Given the description of an element on the screen output the (x, y) to click on. 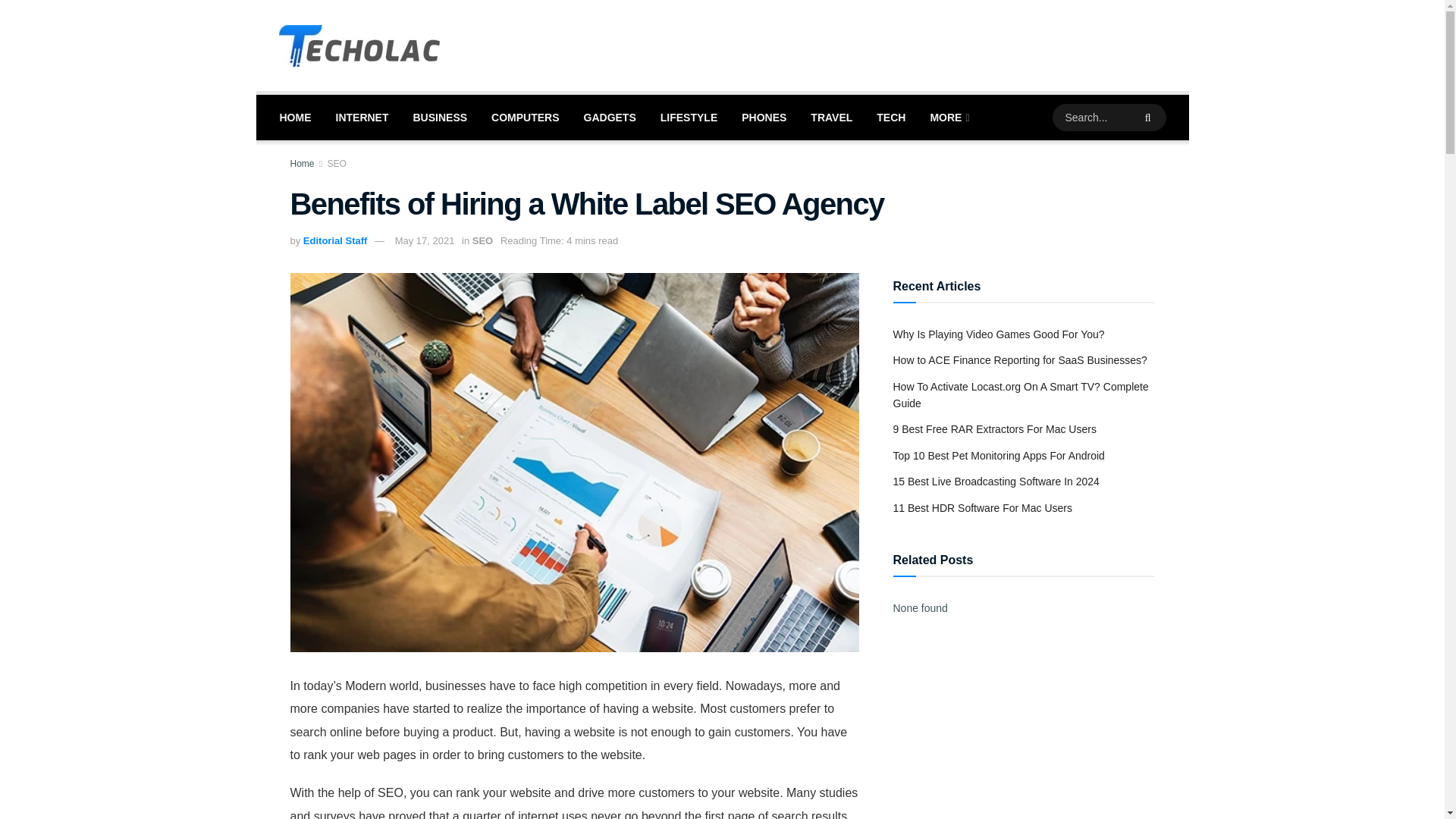
TRAVEL (830, 117)
LIFESTYLE (688, 117)
GADGETS (609, 117)
COMPUTERS (524, 117)
INTERNET (361, 117)
BUSINESS (439, 117)
MORE (947, 117)
HOME (294, 117)
TECH (890, 117)
PHONES (763, 117)
